Given the description of an element on the screen output the (x, y) to click on. 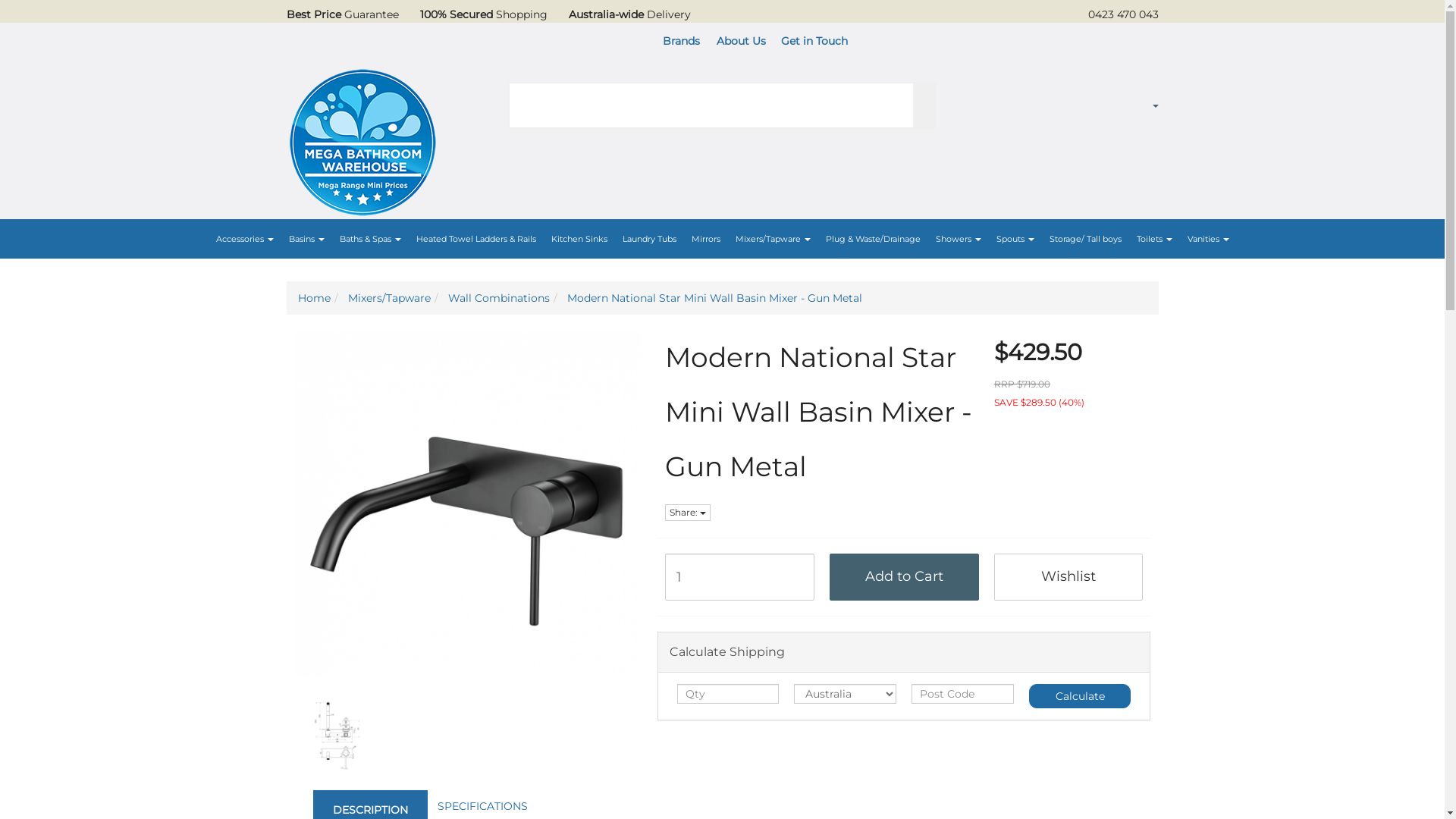
Spouts Element type: text (1014, 238)
Add to Cart Element type: text (904, 576)
Accessories Element type: text (243, 238)
Calculate Element type: text (1080, 696)
Mega Bathroom Warehouse Element type: hover (362, 137)
Brands Element type: text (681, 40)
Share: Element type: text (687, 512)
About Us Element type: text (740, 40)
Kitchen Sinks Element type: text (578, 238)
Showers Element type: text (958, 238)
Wall Combinations Element type: text (498, 297)
Modern National Star Mini Wall Basin Mixer - Gun Metal Element type: text (714, 297)
Mixers/Tapware Element type: text (773, 238)
Mirrors Element type: text (706, 238)
Storage/ Tall boys Element type: text (1085, 238)
Wishlist Element type: text (1068, 576)
Plug & Waste/Drainage Element type: text (872, 238)
Baths & Spas Element type: text (370, 238)
Get in Touch Element type: text (814, 40)
Basins Element type: text (305, 238)
Heated Towel Ladders & Rails Element type: text (474, 238)
Toilets Element type: text (1153, 238)
Search Element type: text (924, 104)
Vanities Element type: text (1207, 238)
Laundry Tubs Element type: text (648, 238)
Mixers/Tapware Element type: text (388, 297)
Large View Element type: hover (337, 735)
Home Element type: text (313, 297)
